Given the description of an element on the screen output the (x, y) to click on. 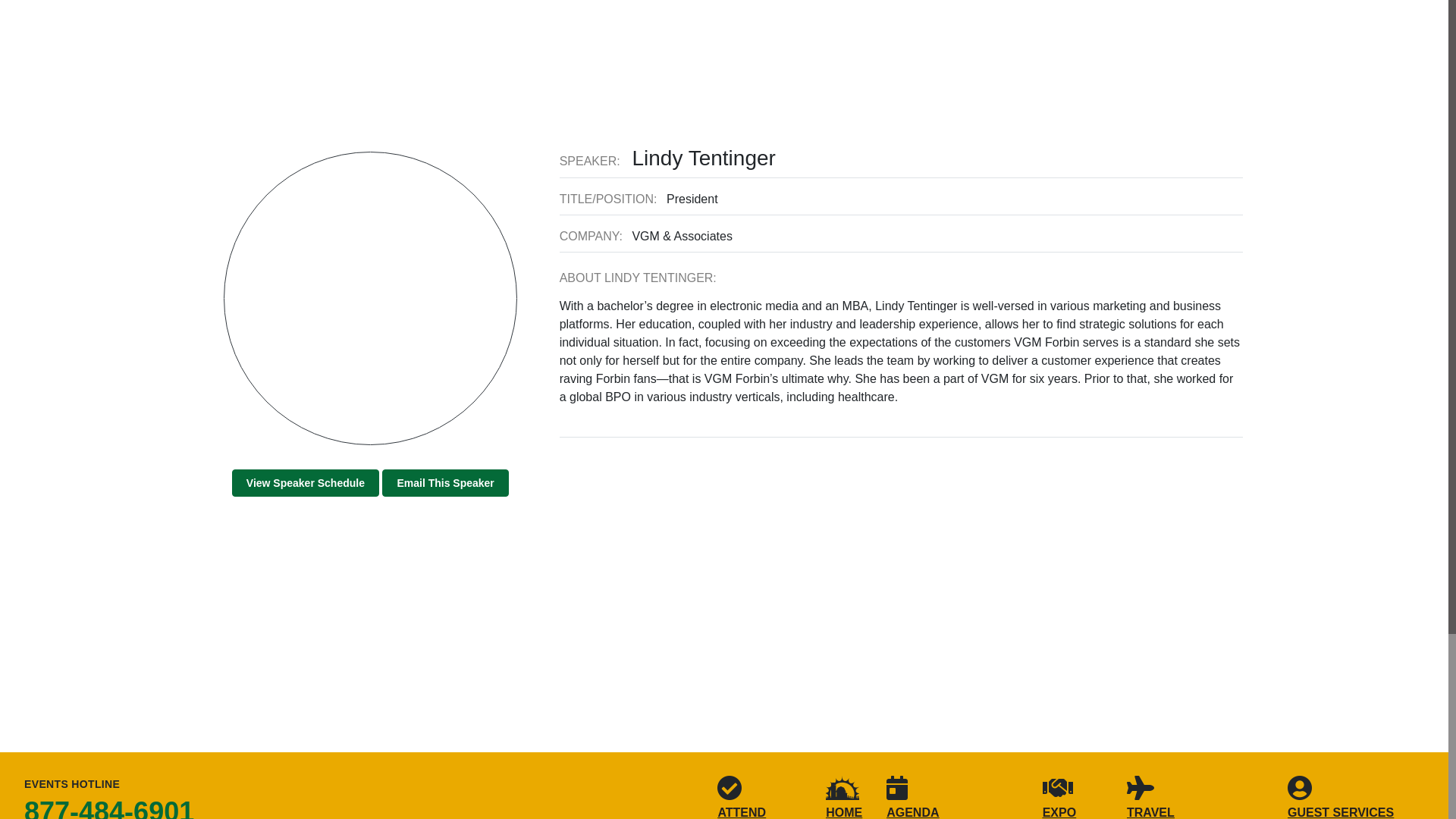
Opens default email client to contact Lindy Tentinger (444, 482)
Email This Speaker (444, 482)
ATTEND (741, 797)
AGENDA (912, 797)
View Speaker Schedule (304, 482)
TRAVEL (1150, 797)
